Given the description of an element on the screen output the (x, y) to click on. 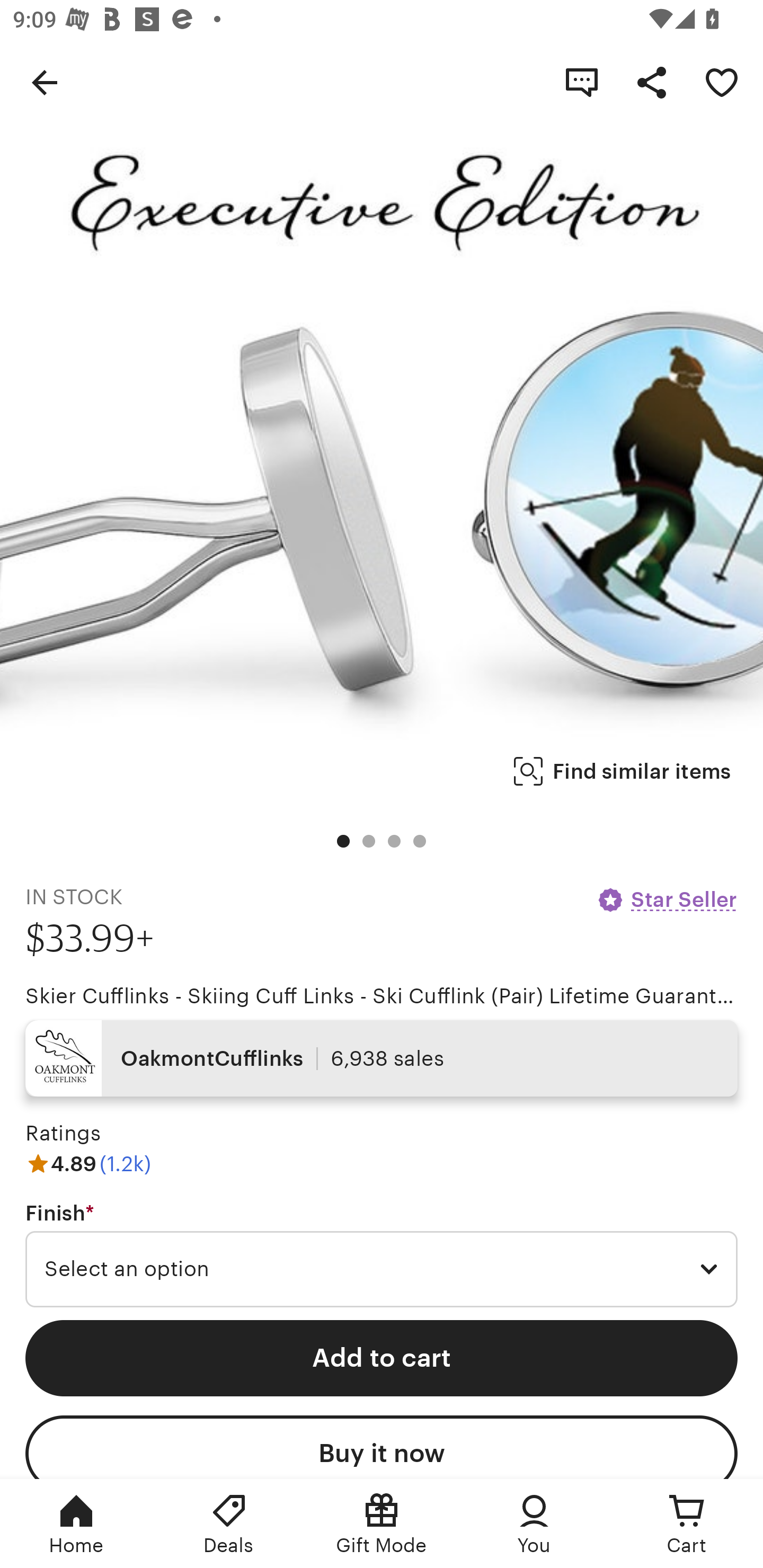
Navigate up (44, 81)
Contact shop (581, 81)
Share (651, 81)
Find similar items (622, 771)
Star Seller (666, 899)
OakmontCufflinks 6,938 sales (381, 1058)
Ratings (62, 1133)
4.89 (1.2k) (88, 1163)
Finish * Required Select an option (381, 1254)
Select an option (381, 1268)
Add to cart (381, 1358)
Buy it now (381, 1446)
Deals (228, 1523)
Gift Mode (381, 1523)
You (533, 1523)
Cart (686, 1523)
